Given the description of an element on the screen output the (x, y) to click on. 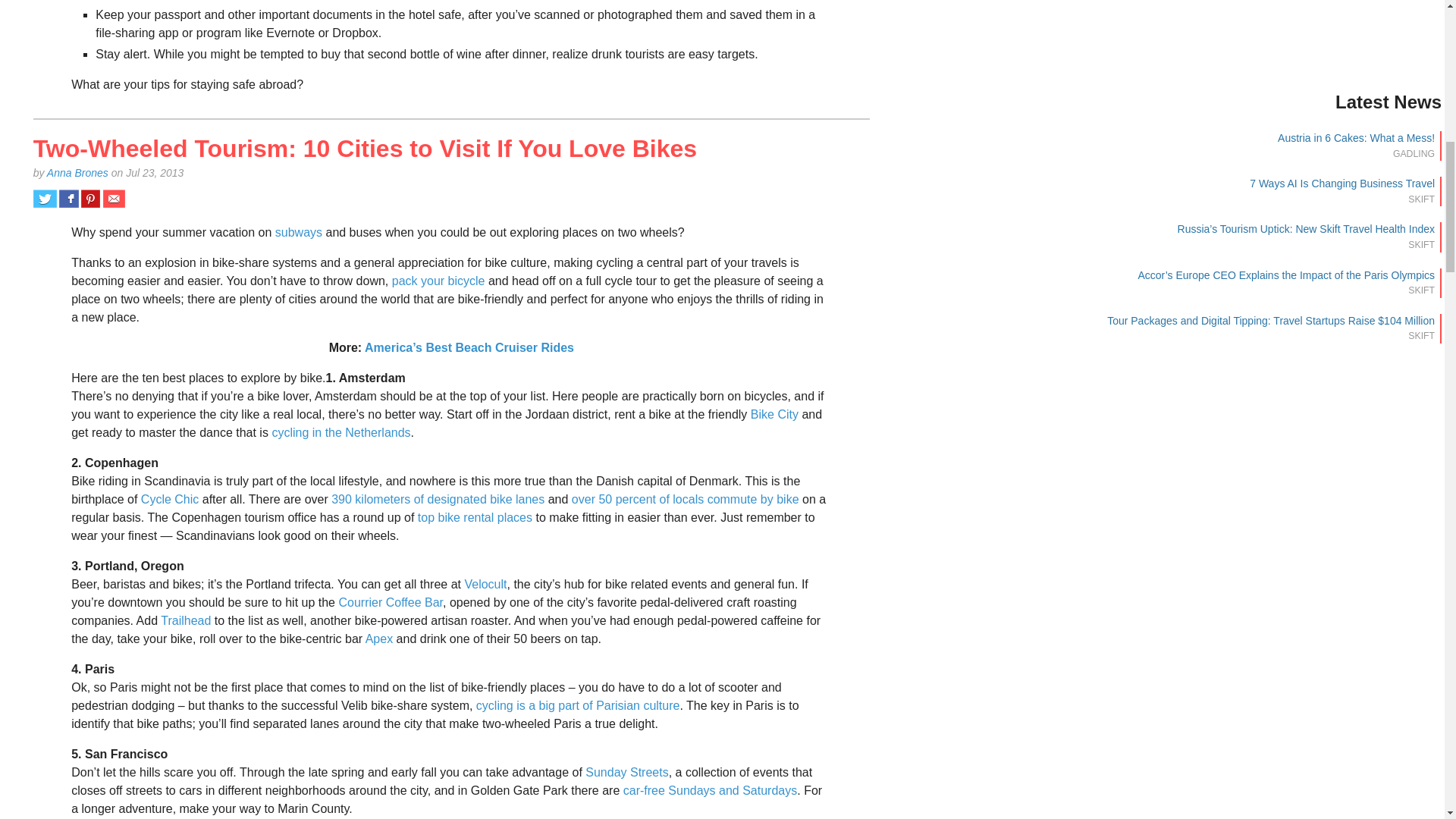
Share on Pinterest (90, 198)
Share on Twitter (44, 198)
Share via email (114, 198)
Share on Facebook (68, 198)
Two-Wheeled Tourism: 10 Cities to Visit If You Love Bikes (365, 148)
